Given the description of an element on the screen output the (x, y) to click on. 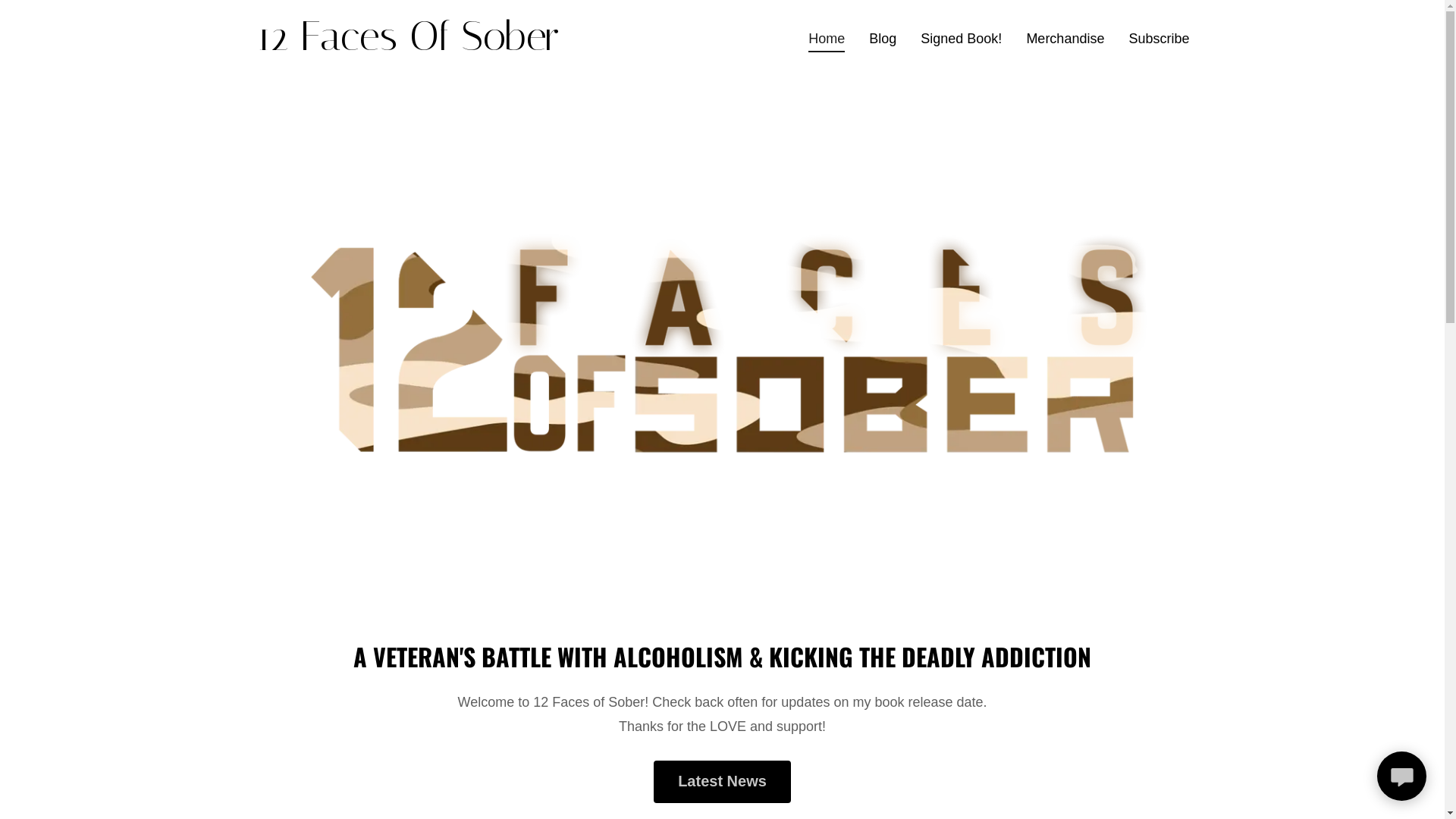
12 Faces Of Sober Element type: text (417, 45)
Home Element type: text (826, 40)
Subscribe Element type: text (1158, 37)
Signed Book! Element type: text (961, 37)
Merchandise Element type: text (1064, 37)
Latest News Element type: text (721, 781)
Blog Element type: text (882, 37)
